Given the description of an element on the screen output the (x, y) to click on. 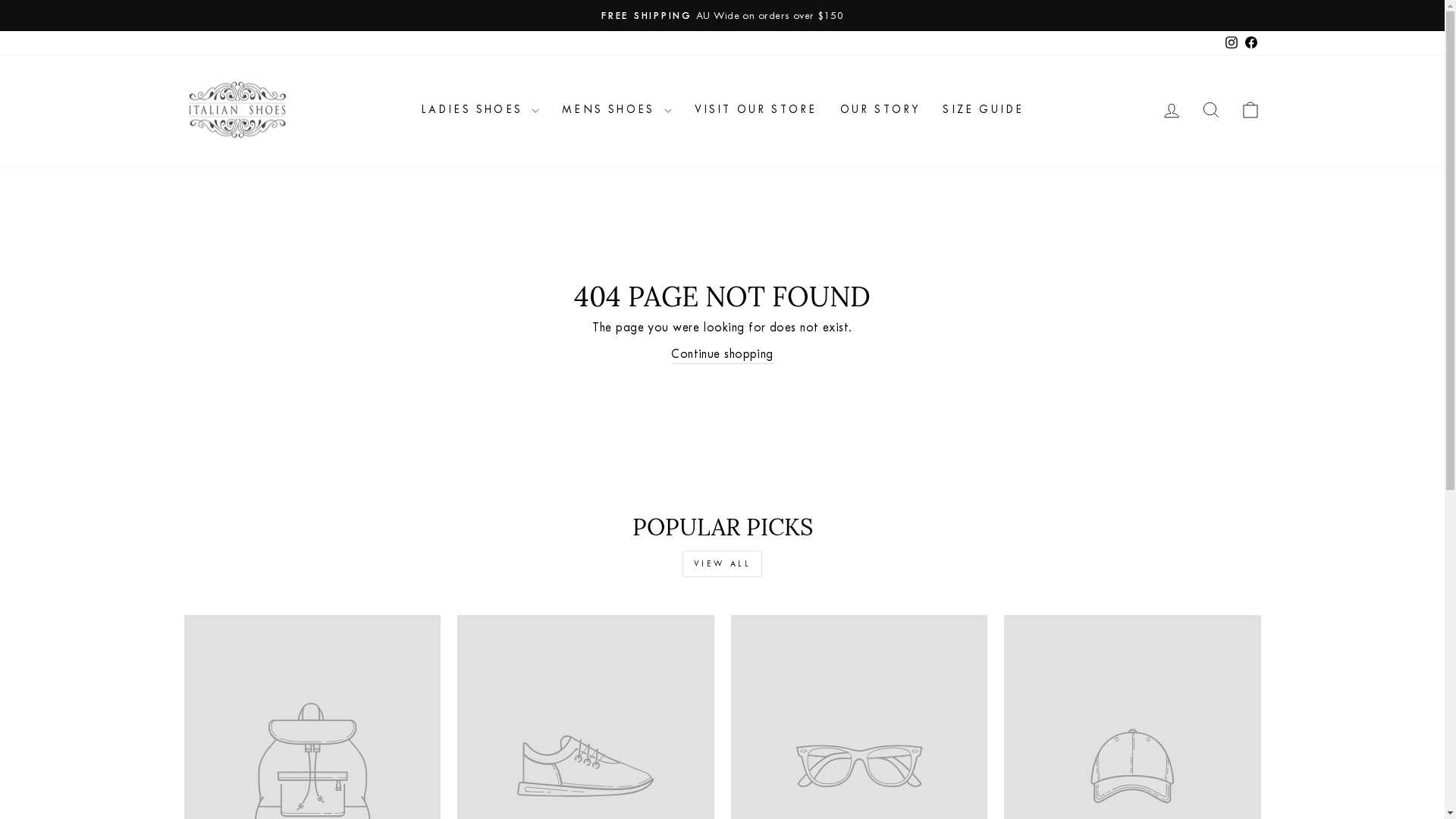
ACCOUNT
LOG IN Element type: text (1170, 110)
OUR STORY Element type: text (879, 110)
SIZE GUIDE Element type: text (983, 110)
ICON-SEARCH
SEARCH Element type: text (1210, 110)
VISIT OUR STORE Element type: text (755, 110)
instagram
Instagram Element type: text (1230, 42)
Continue shopping Element type: text (722, 354)
ICON-BAG-MINIMAL
CART Element type: text (1249, 110)
VIEW ALL Element type: text (722, 563)
Facebook Element type: text (1250, 42)
